Given the description of an element on the screen output the (x, y) to click on. 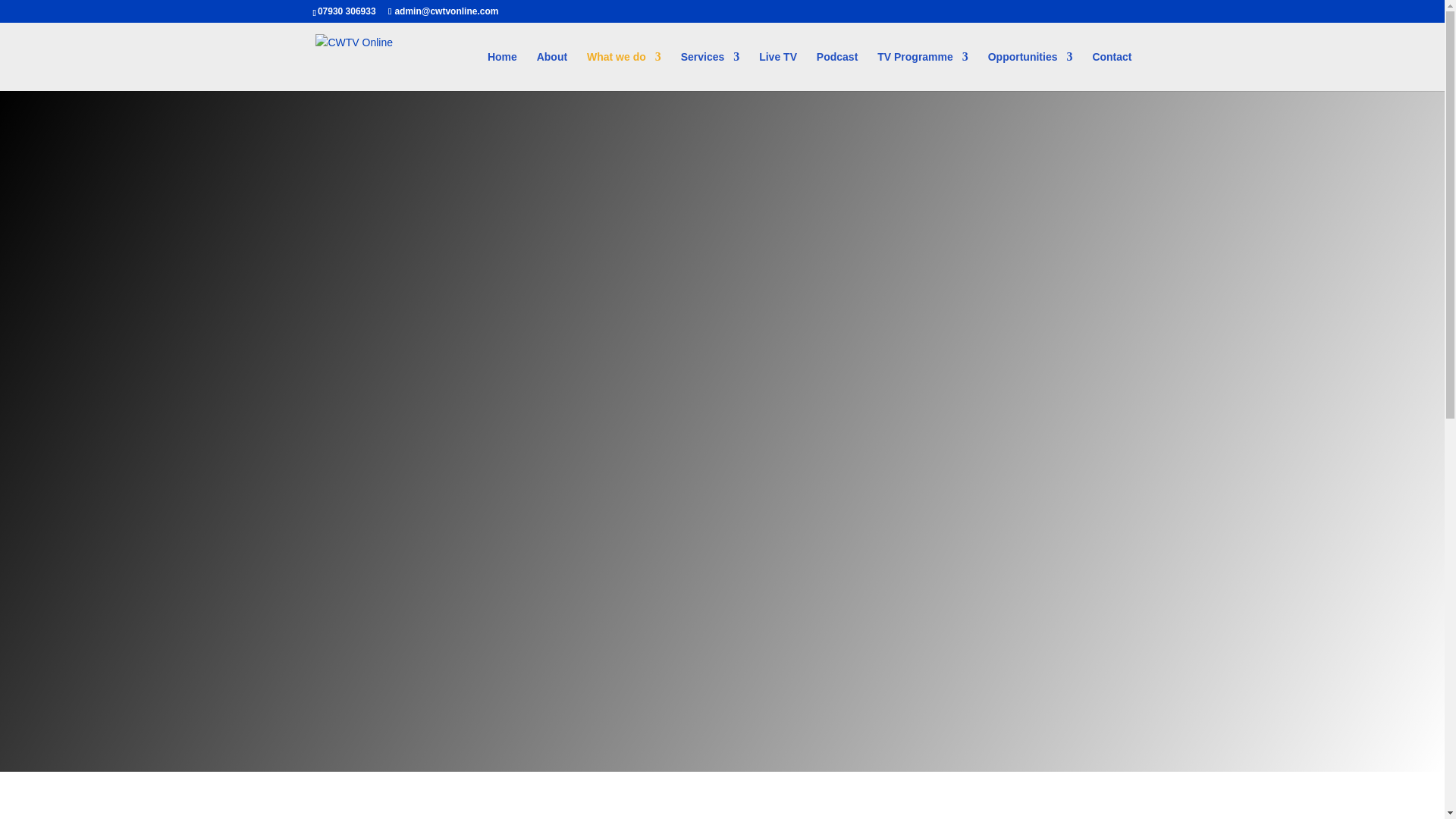
Services (710, 70)
TV Programme (922, 70)
What we do (623, 70)
Contact (1111, 70)
Opportunities (1030, 70)
Live TV (777, 70)
Podcast (836, 70)
